Given the description of an element on the screen output the (x, y) to click on. 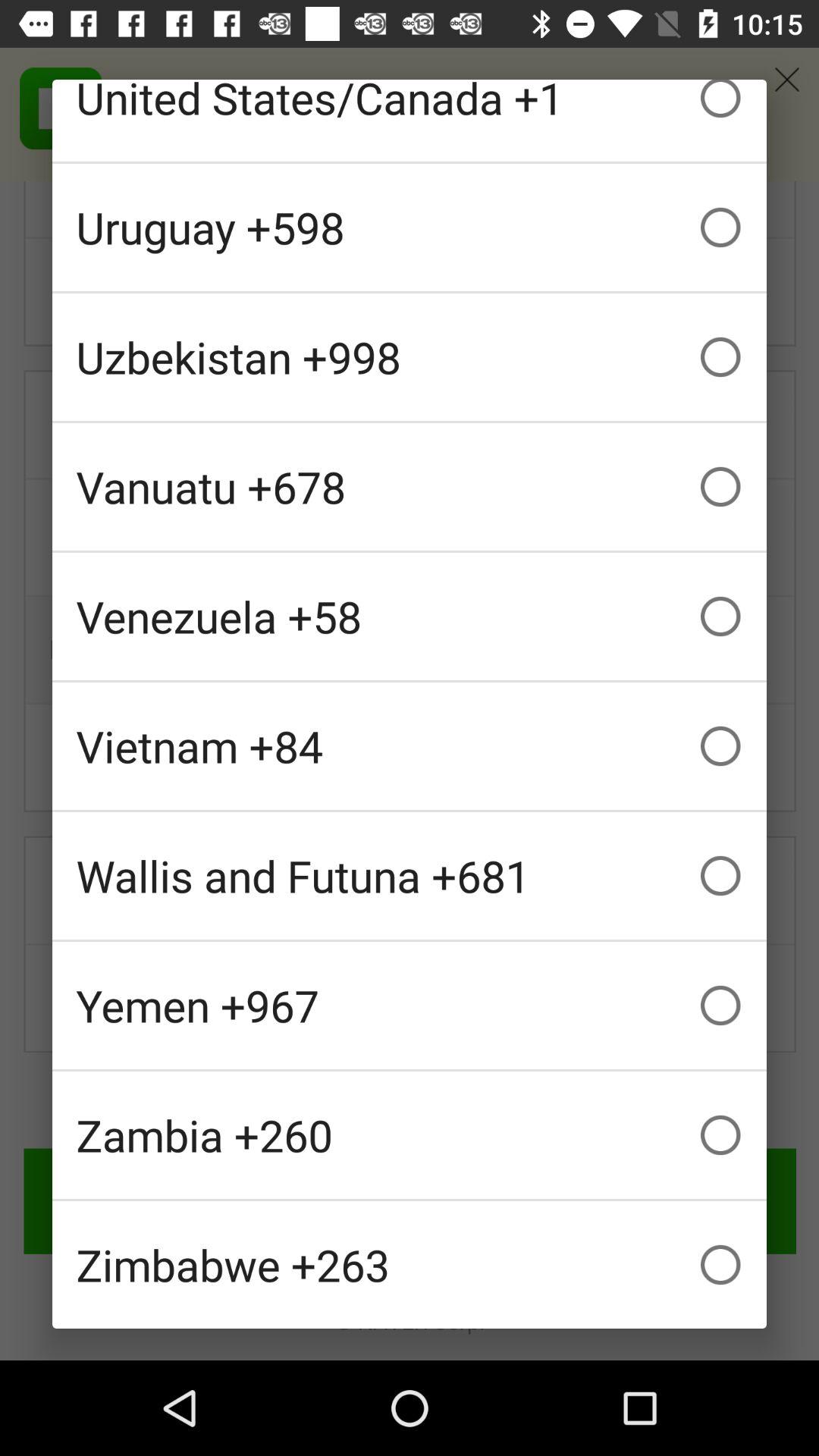
launch the wallis and futuna (409, 875)
